Given the description of an element on the screen output the (x, y) to click on. 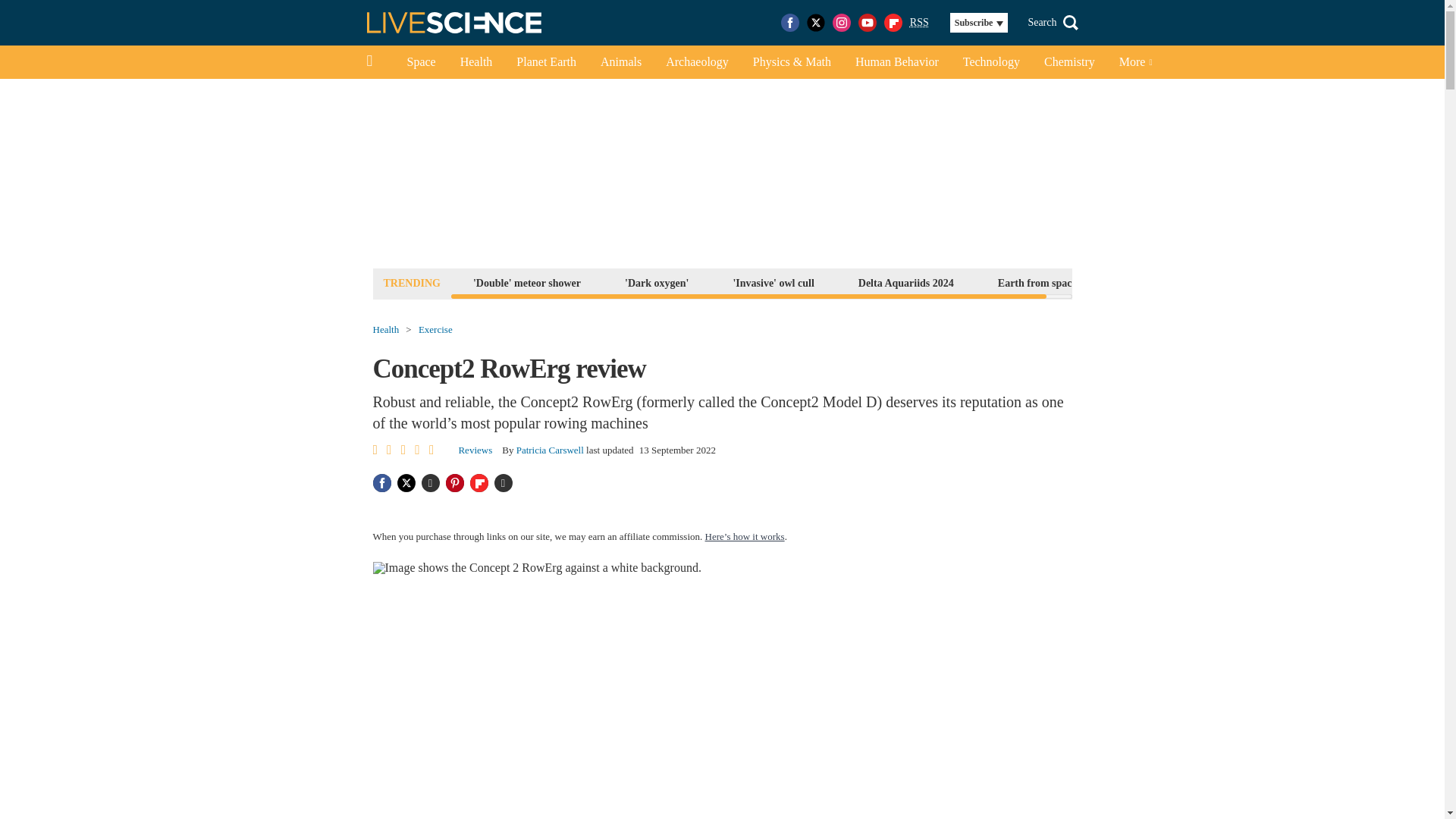
Archaeology (697, 61)
Delta Aquariids 2024 (906, 282)
Space (420, 61)
Planet Earth (545, 61)
Earth from space (1036, 282)
Chemistry (1069, 61)
Human Behavior (896, 61)
Really Simple Syndication (919, 21)
Health (476, 61)
Exercise (435, 328)
'Dark oxygen' (657, 282)
RSS (919, 22)
Patricia Carswell (549, 449)
Reviews (475, 449)
Animals (620, 61)
